Given the description of an element on the screen output the (x, y) to click on. 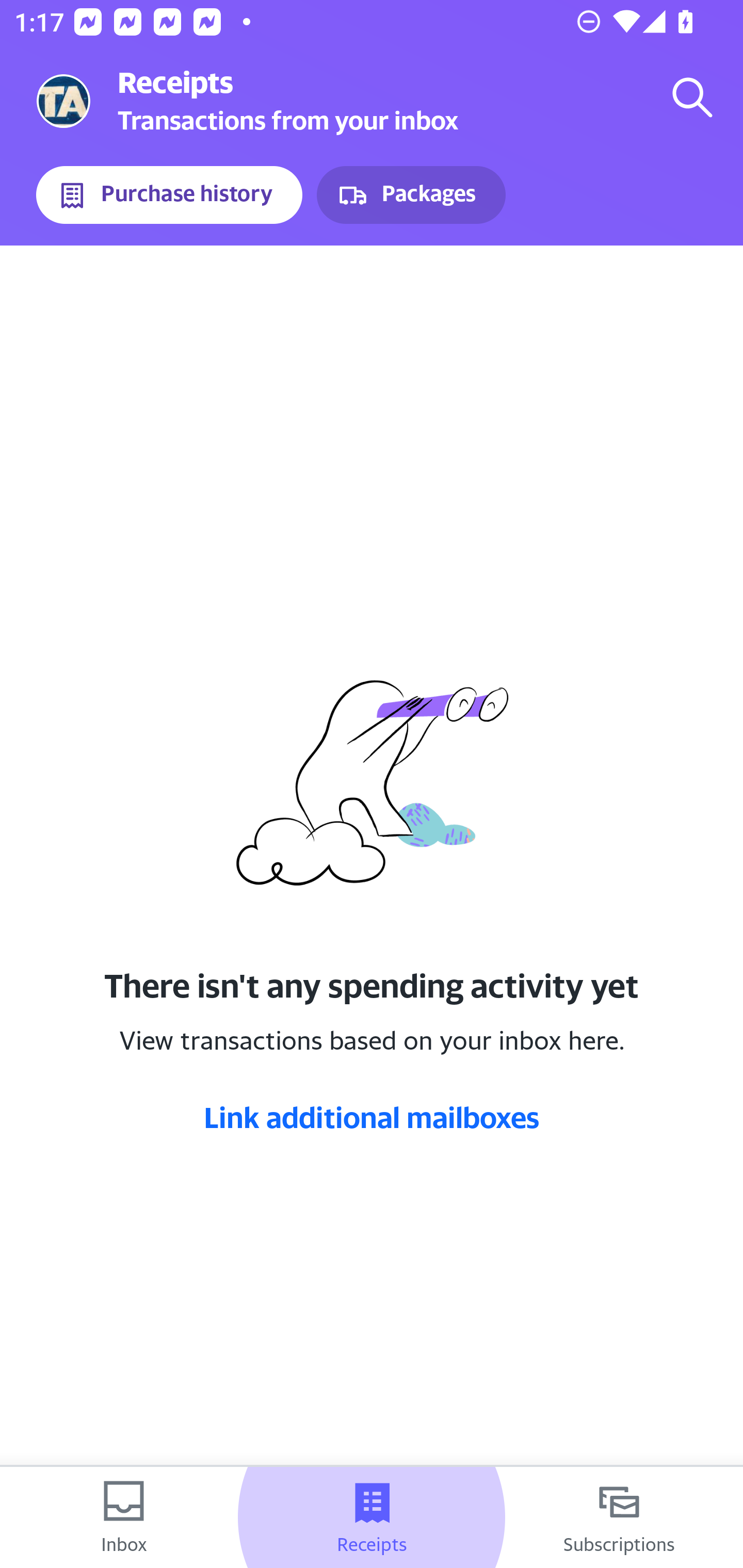
Search mail (692, 97)
Packages (410, 195)
Link additional mailboxes (371, 1117)
Inbox (123, 1517)
Receipts (371, 1517)
Subscriptions (619, 1517)
